Given the description of an element on the screen output the (x, y) to click on. 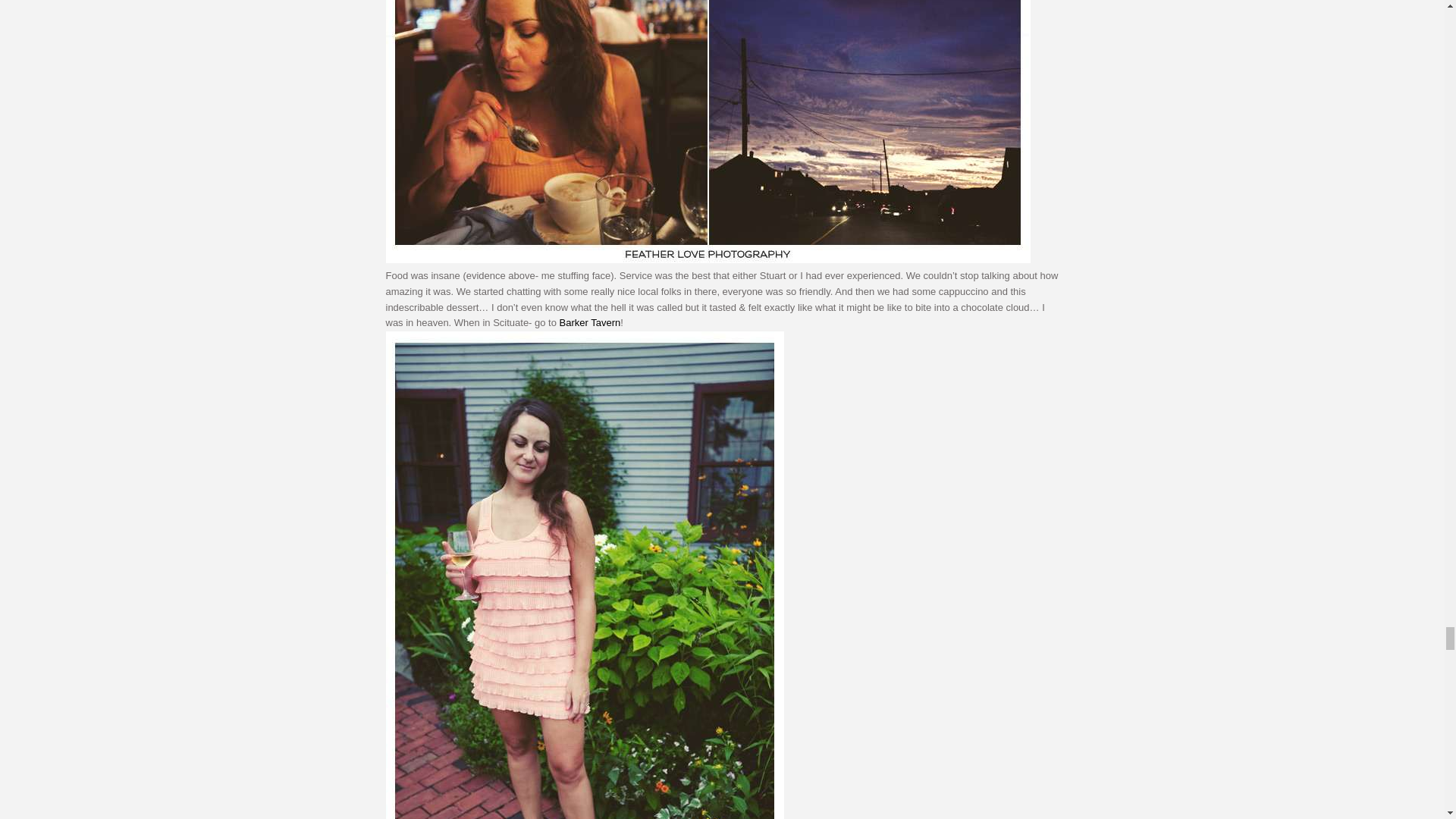
Barker Tavern (590, 322)
